Given the description of an element on the screen output the (x, y) to click on. 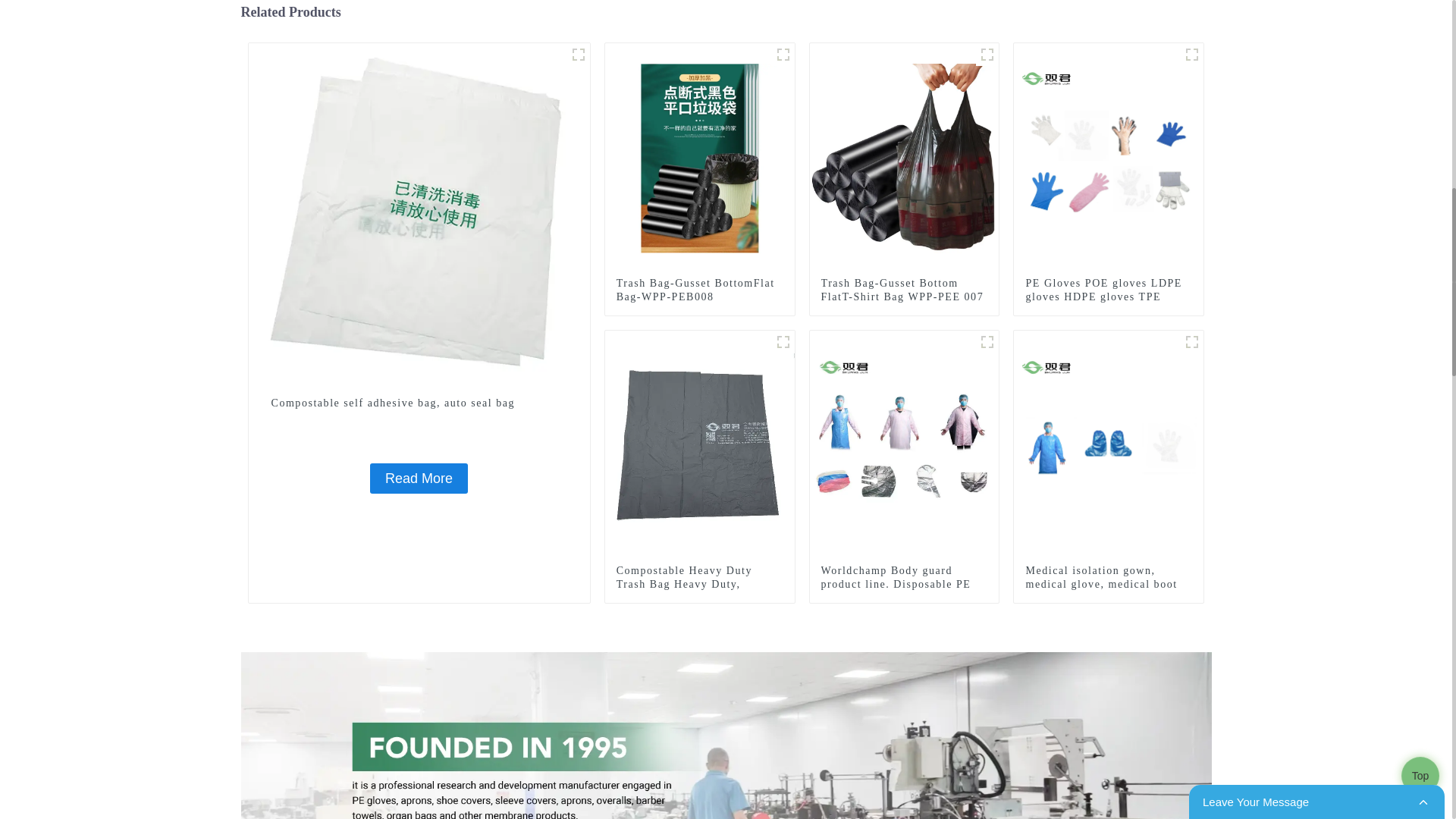
Compostable self adhesive bag, auto seal bag (418, 402)
bcd58168-d673-433c-8bc9-d2c59d613b31 (986, 341)
b4d06a82-eaf4-4644-b31c-6f5a4bab1637 (1192, 54)
Trash Bag-Gusset Bottom FlatT-Shirt Bag 1 (986, 54)
WPP-CMB001 (578, 54)
Trash Bag-Gusset Bottom FlatT-Shirt Bag WPP-PEE 007 (903, 156)
Trash Bag-Gusset BottomFlat Bag-WPP-PEB008 (699, 289)
